Given the description of an element on the screen output the (x, y) to click on. 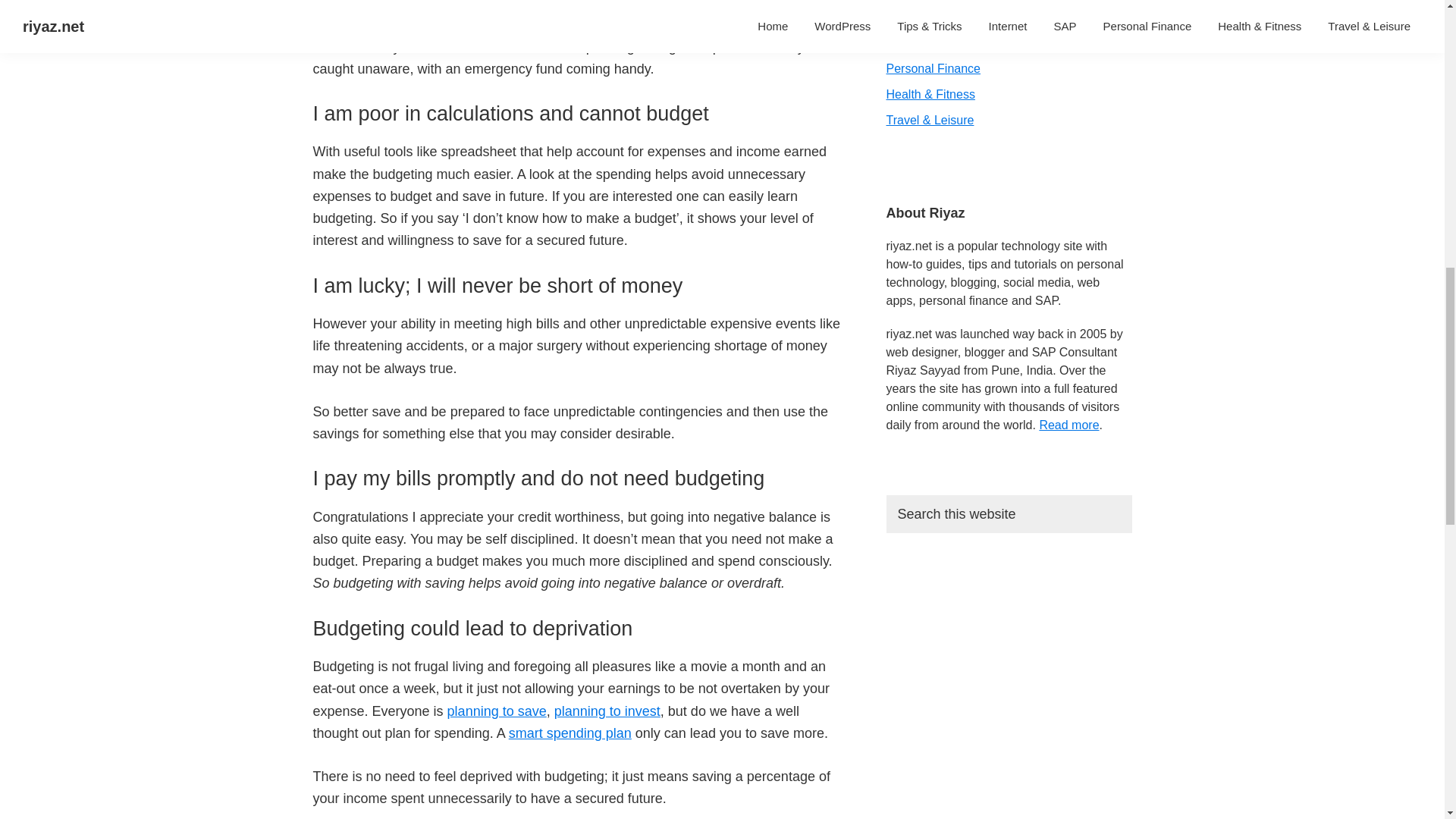
A Step by Step Guide to Your First Financial Plan (607, 711)
How to Save More Money by Spending Smarter (569, 733)
planning to invest (607, 711)
planning to save (496, 711)
Financial Planning (496, 711)
smart spending plan (569, 733)
